Given the description of an element on the screen output the (x, y) to click on. 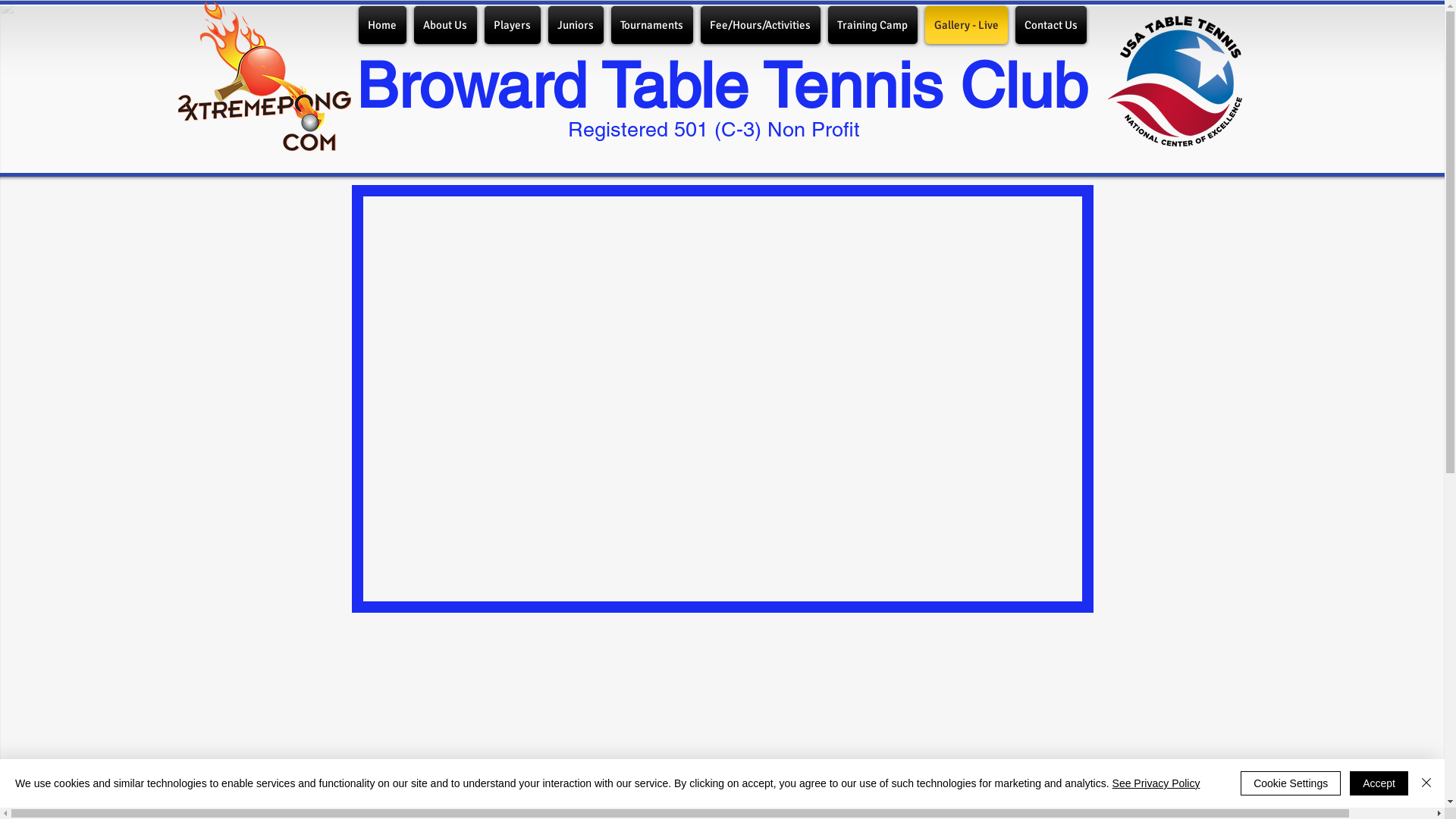
Contact Us Element type: text (1048, 24)
Juniors Element type: text (575, 24)
Tournaments Element type: text (651, 24)
About Us Element type: text (444, 24)
Accept Element type: text (1378, 783)
Cookie Settings Element type: text (1290, 783)
See Privacy Policy Element type: text (1156, 783)
Training Camp Element type: text (871, 24)
Players Element type: text (512, 24)
Home Element type: text (383, 24)
Gallery - Live Element type: text (965, 24)
Fee/Hours/Activities Element type: text (759, 24)
